Given the description of an element on the screen output the (x, y) to click on. 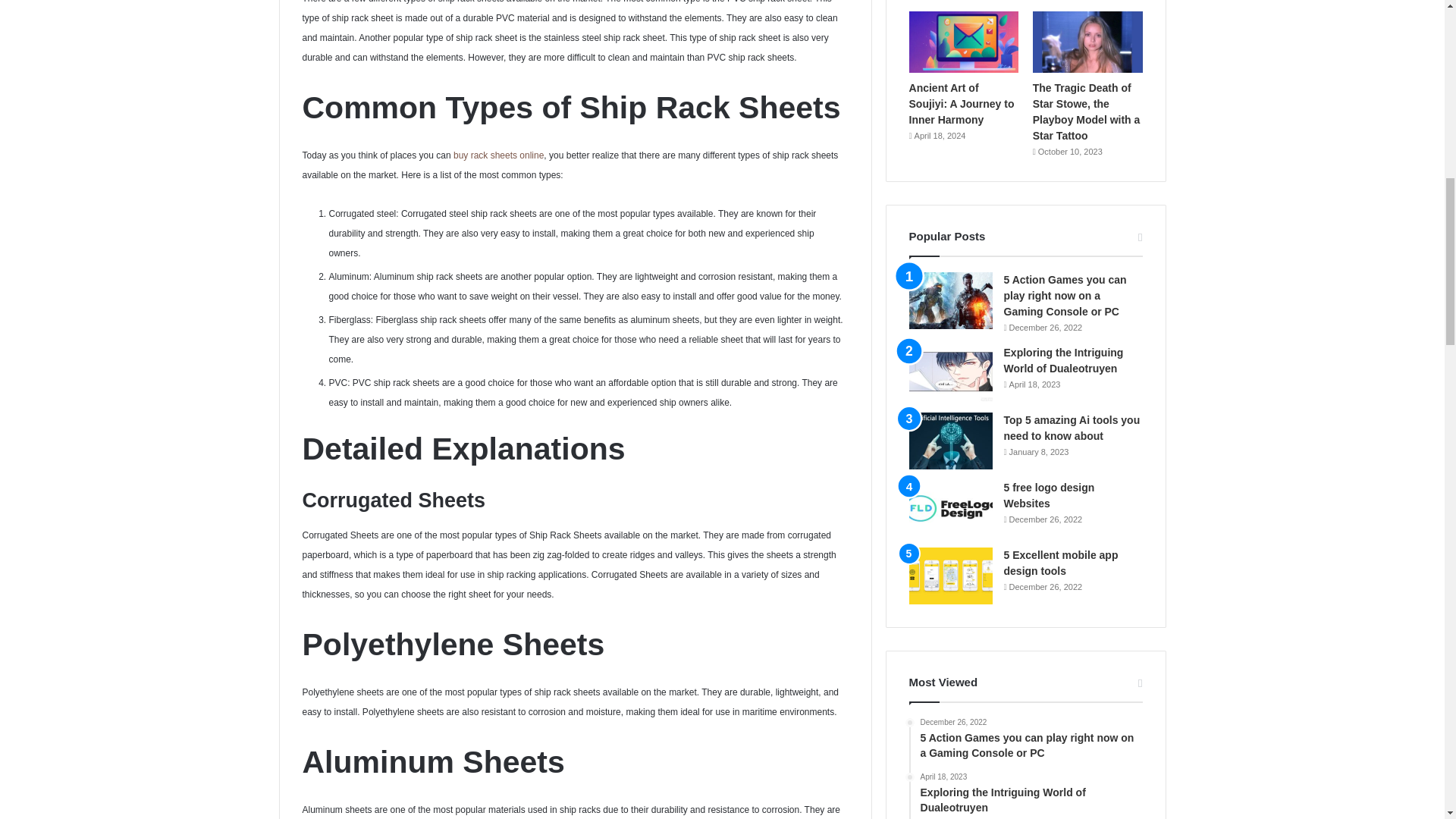
buy rack sheets online (497, 154)
